Given the description of an element on the screen output the (x, y) to click on. 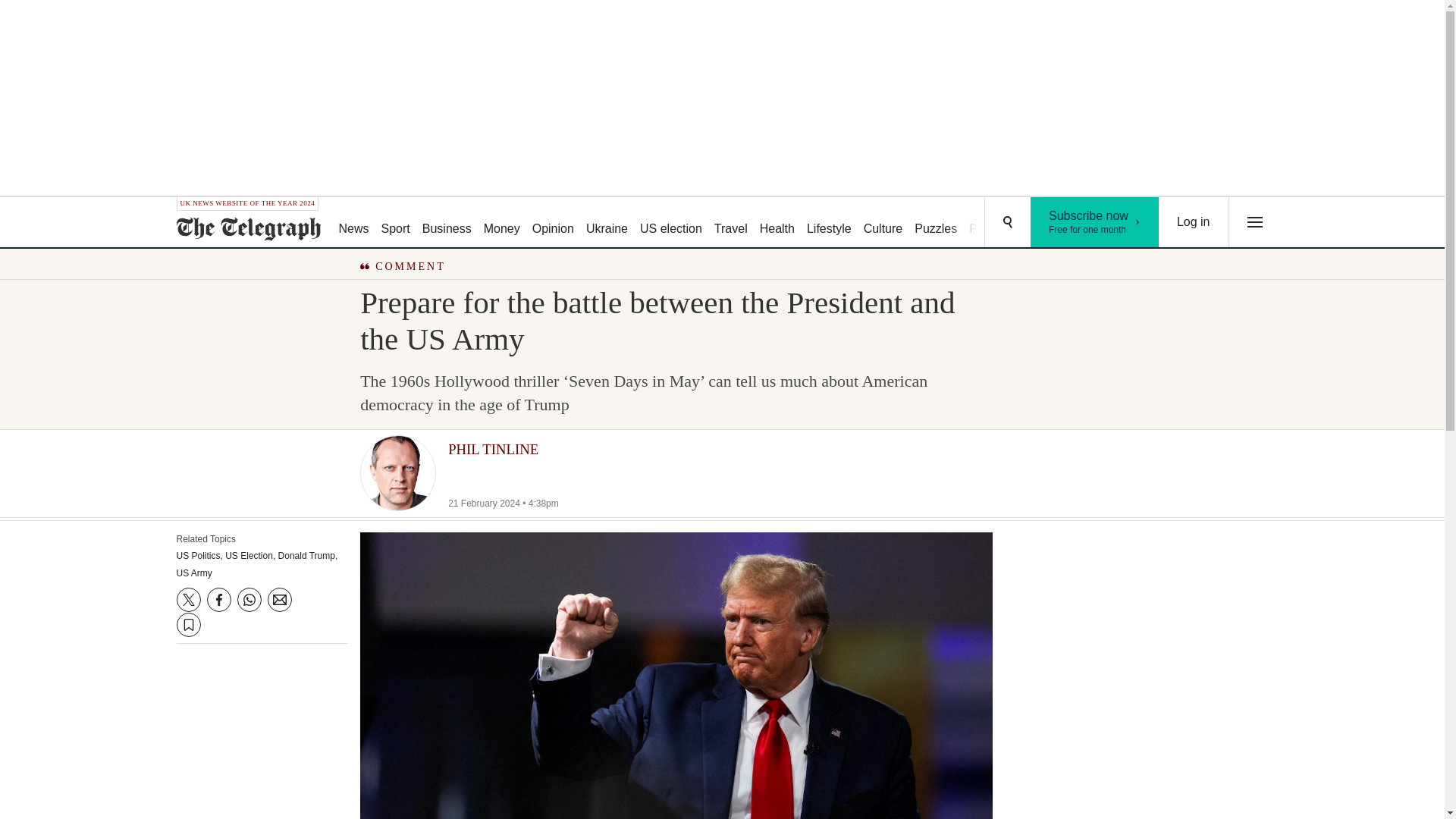
Podcasts (993, 223)
Business (446, 223)
Travel (730, 223)
Puzzles (935, 223)
Culture (882, 223)
Lifestyle (1094, 222)
Ukraine (828, 223)
Money (606, 223)
US election (501, 223)
